Given the description of an element on the screen output the (x, y) to click on. 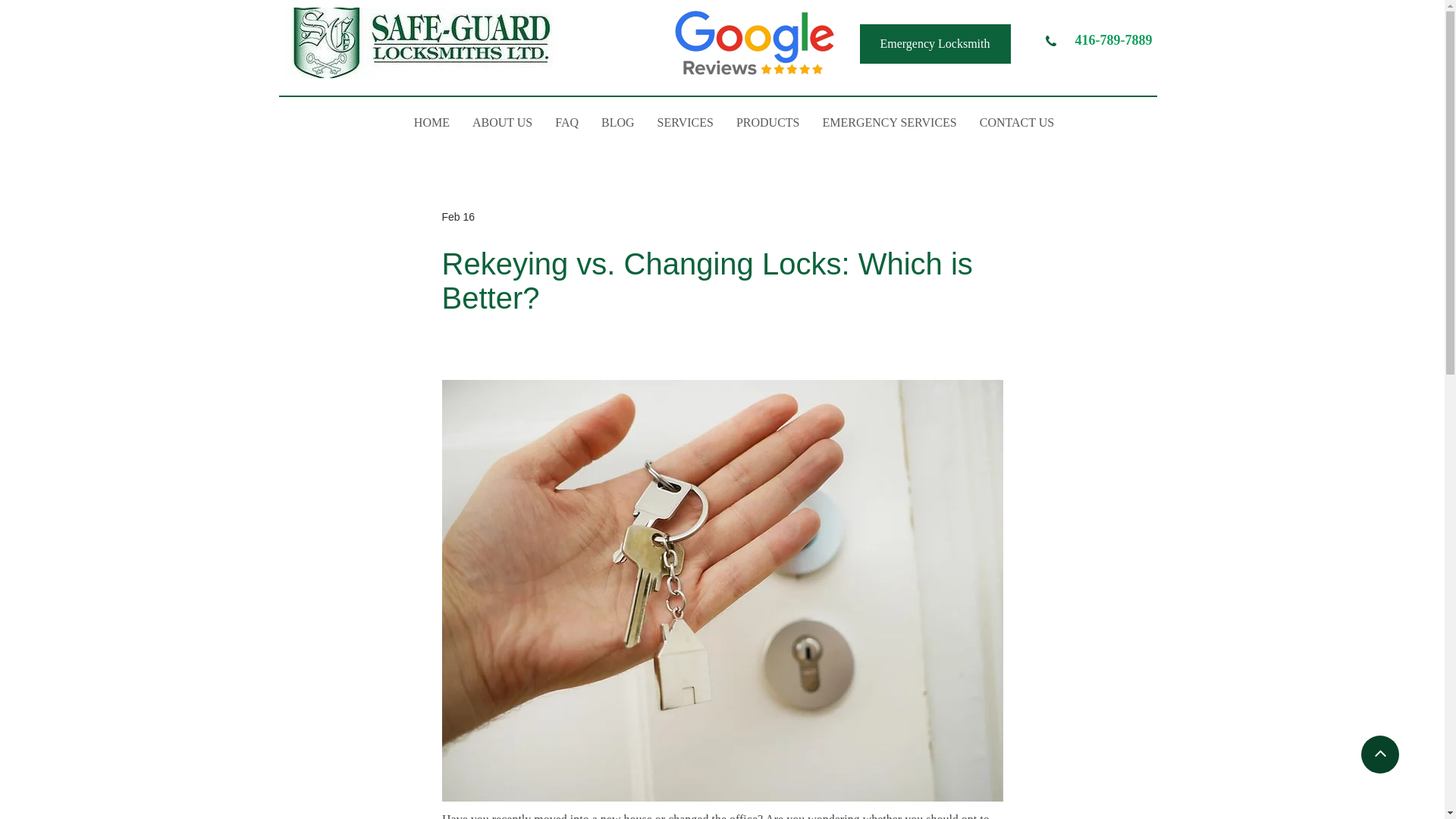
Feb 16 (457, 216)
Emergency Locksmith (935, 43)
FAQ (566, 122)
416-789-7889 (1114, 39)
HOME (431, 122)
PRODUCTS (767, 122)
BLOG (617, 122)
EMERGENCY SERVICES (889, 122)
ABOUT US (501, 122)
CONTACT US (1016, 122)
